Given the description of an element on the screen output the (x, y) to click on. 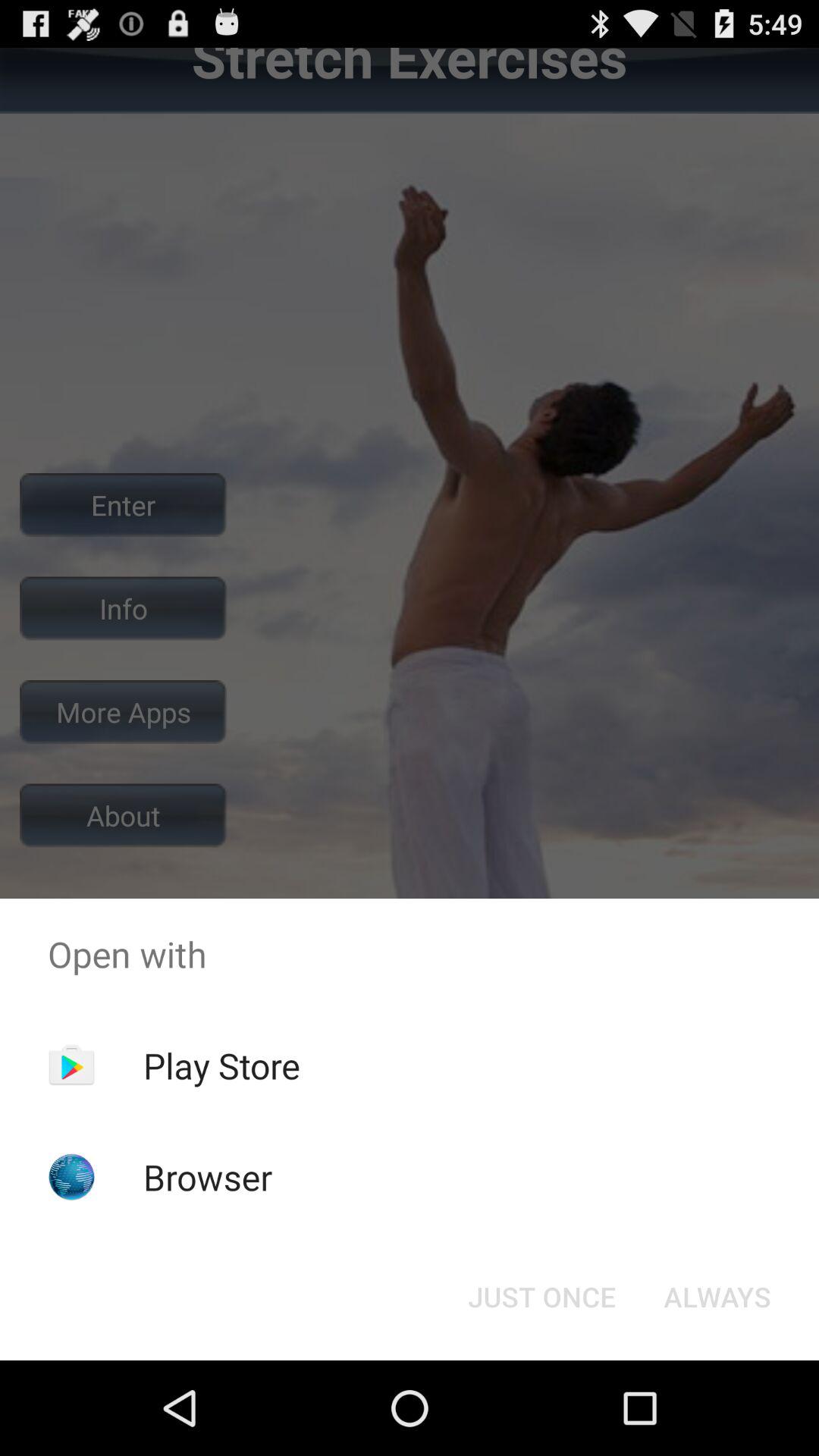
choose the always item (717, 1296)
